Given the description of an element on the screen output the (x, y) to click on. 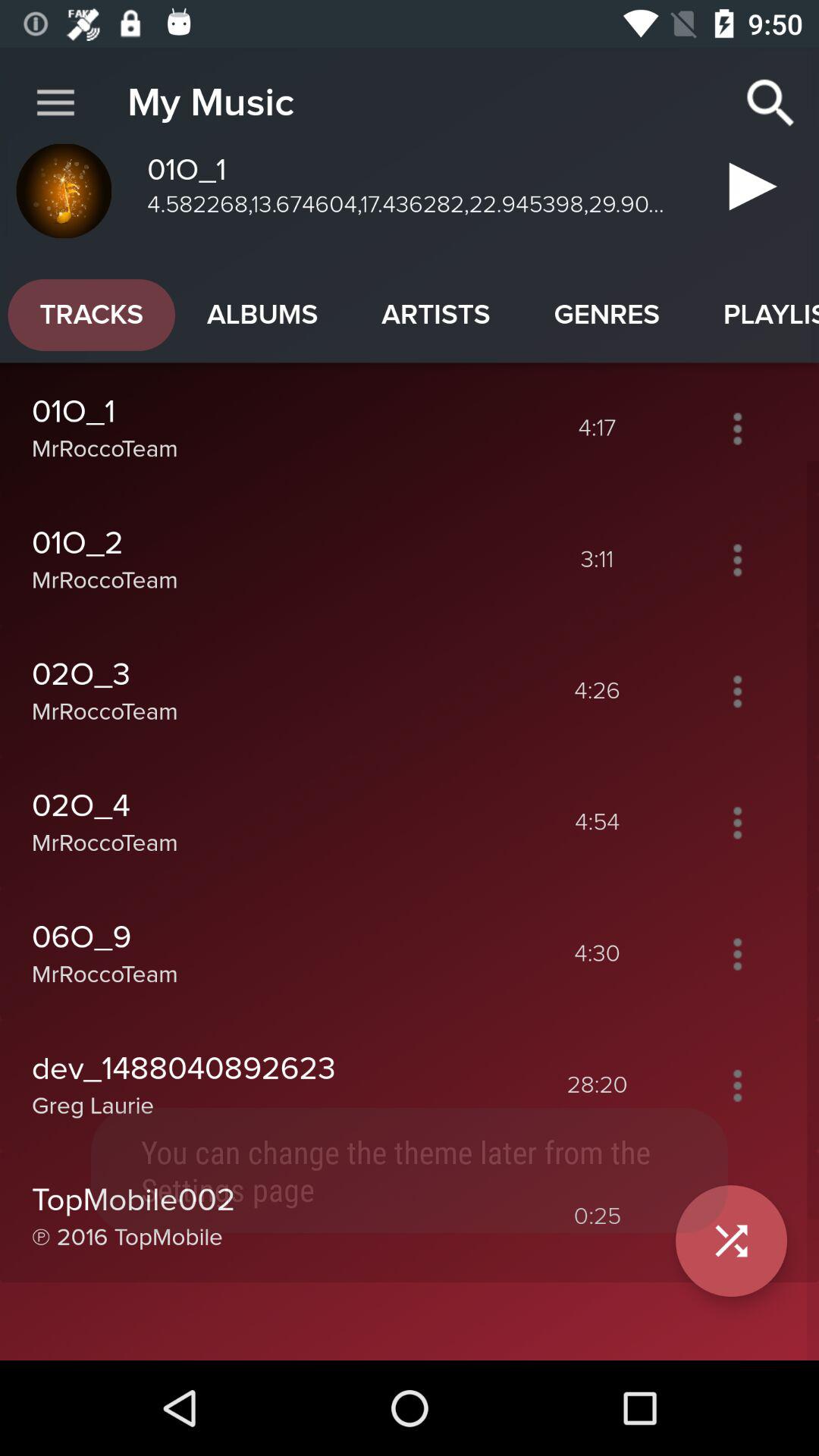
tap the tracks item (91, 314)
